Given the description of an element on the screen output the (x, y) to click on. 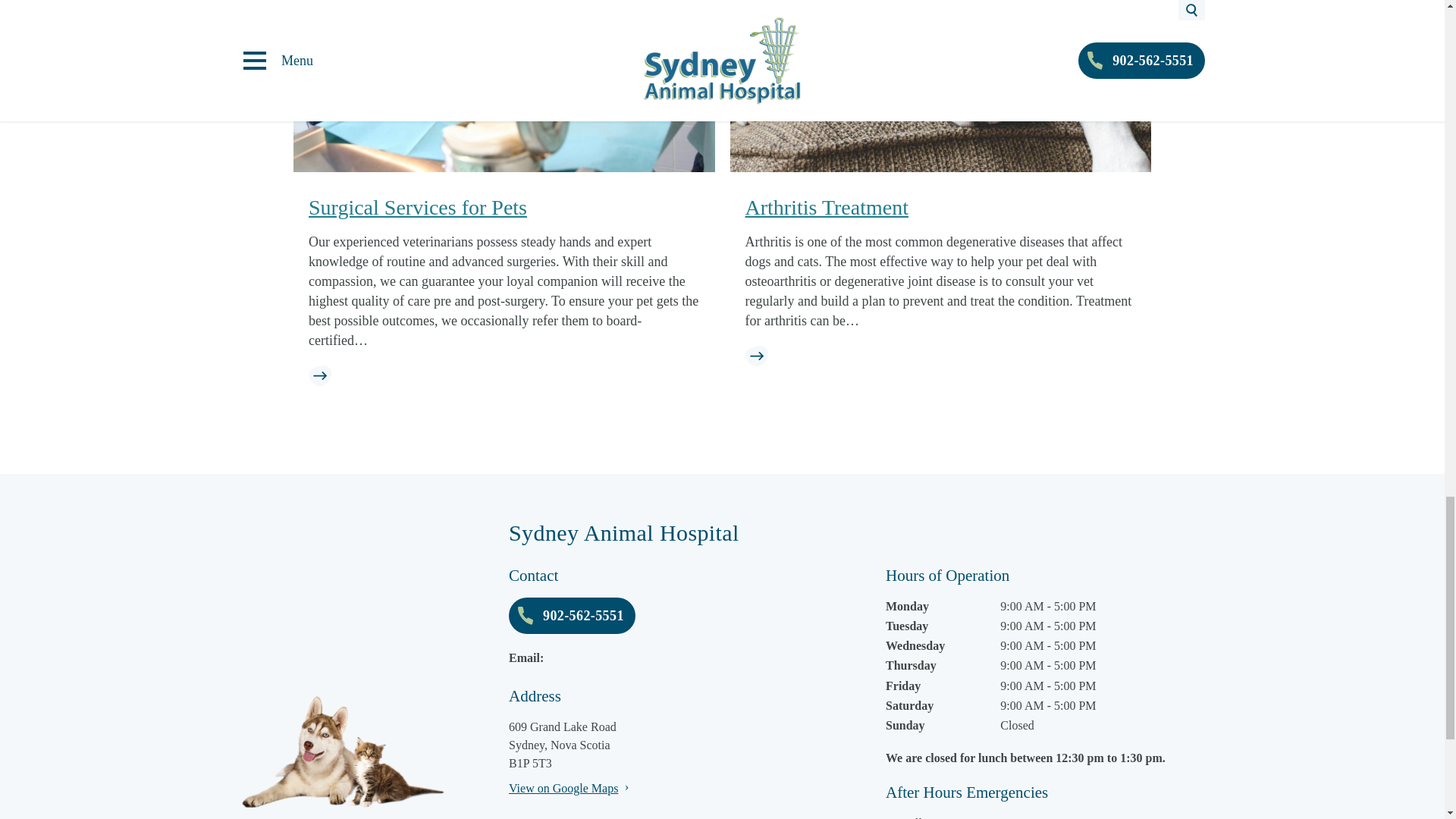
Surgical Services for Pets (417, 207)
902-562-5551 (571, 615)
Arthritis Treatment (825, 207)
View on Google Maps (562, 788)
